Given the description of an element on the screen output the (x, y) to click on. 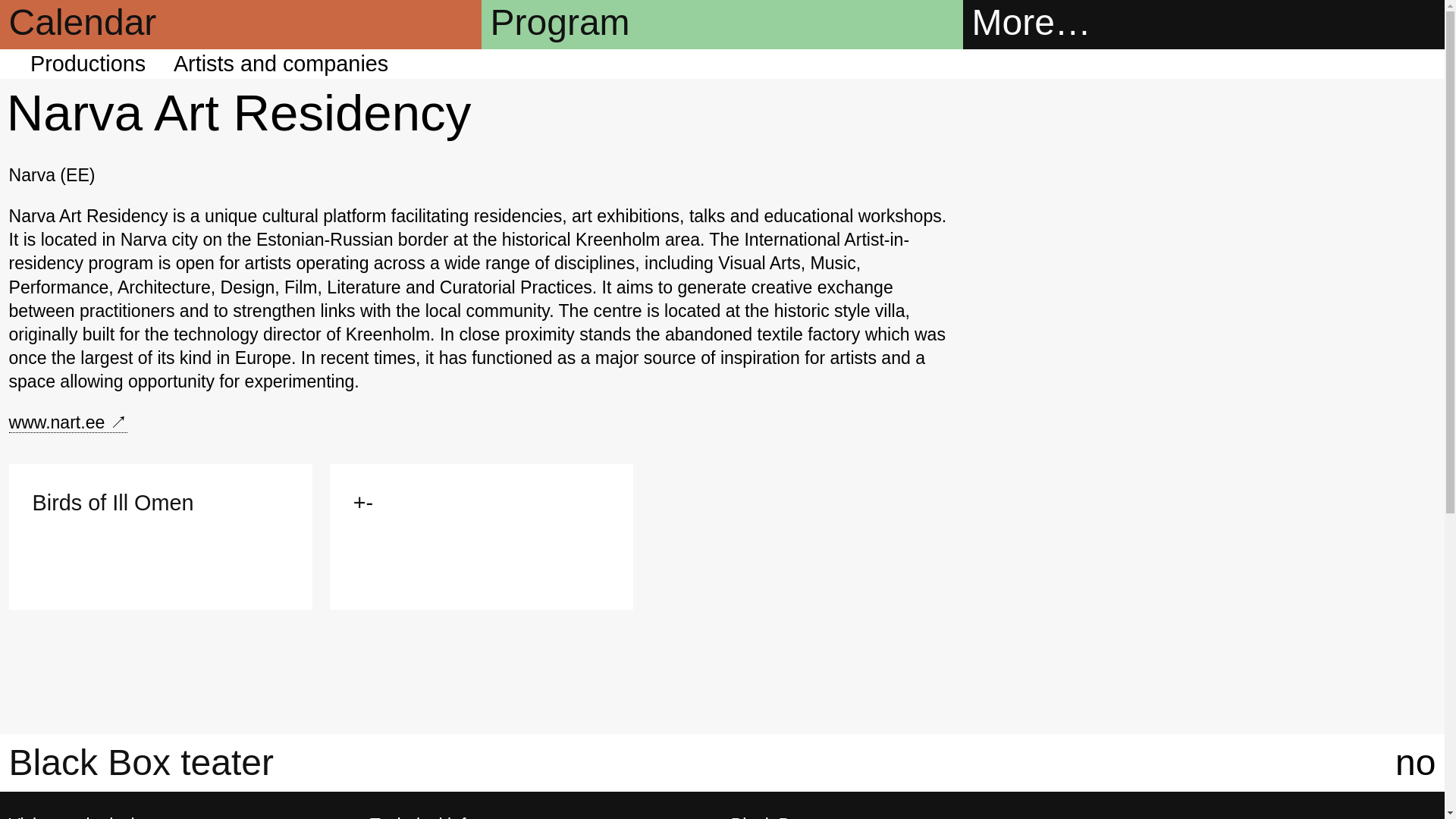
: null (68, 422)
Bytt til norsk (1414, 762)
Calendar (240, 43)
